Given the description of an element on the screen output the (x, y) to click on. 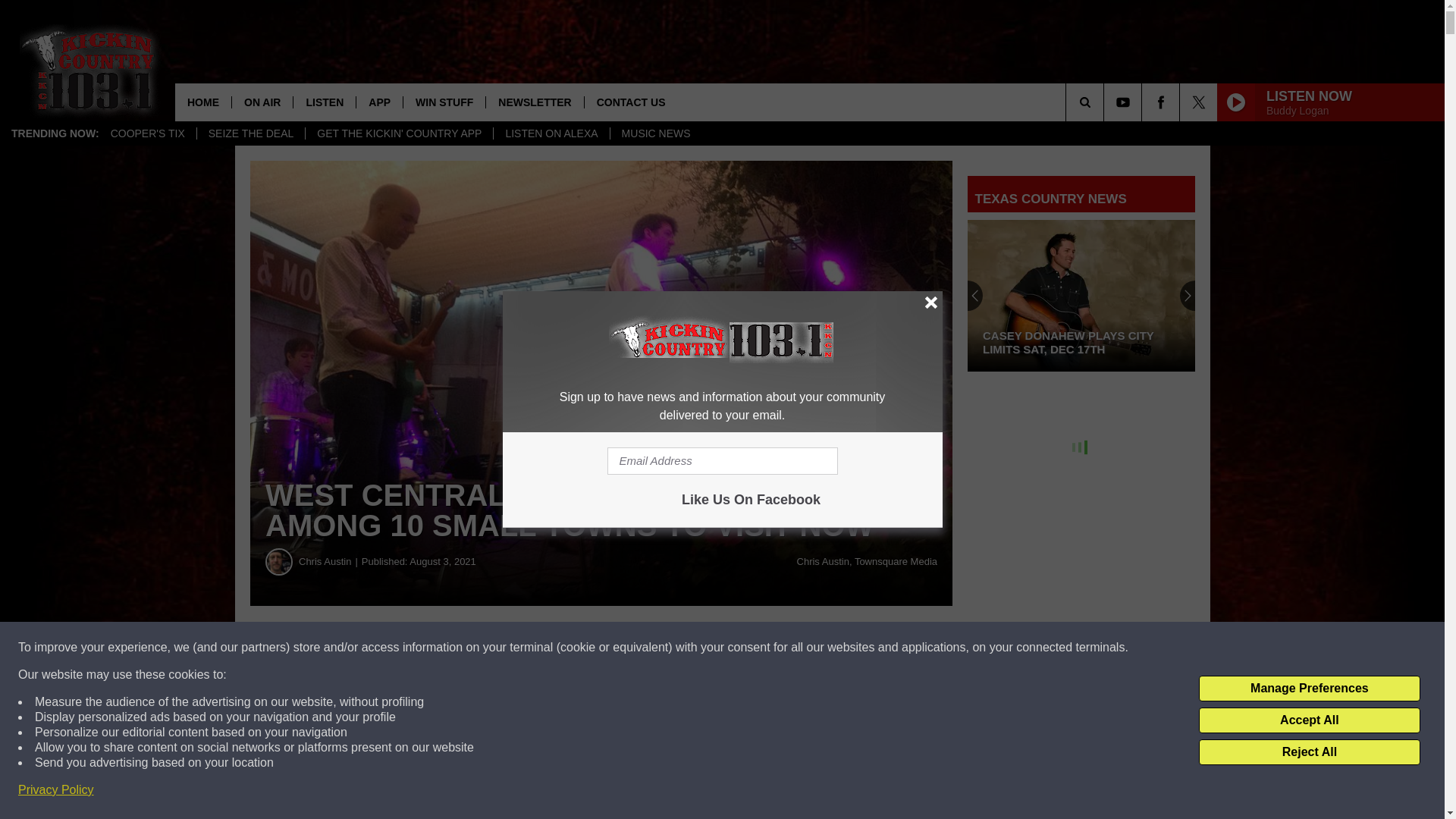
MUSIC NEWS (655, 133)
Privacy Policy (55, 789)
Email Address (722, 461)
Share on Twitter (741, 647)
SEARCH (1106, 102)
GET THE KICKIN' COUNTRY APP (398, 133)
Reject All (1309, 751)
WIN STUFF (443, 102)
LISTEN (323, 102)
APP (379, 102)
SEIZE THE DEAL (250, 133)
HOME (202, 102)
Accept All (1309, 720)
NEWSLETTER (533, 102)
LISTEN ON ALEXA (550, 133)
